Given the description of an element on the screen output the (x, y) to click on. 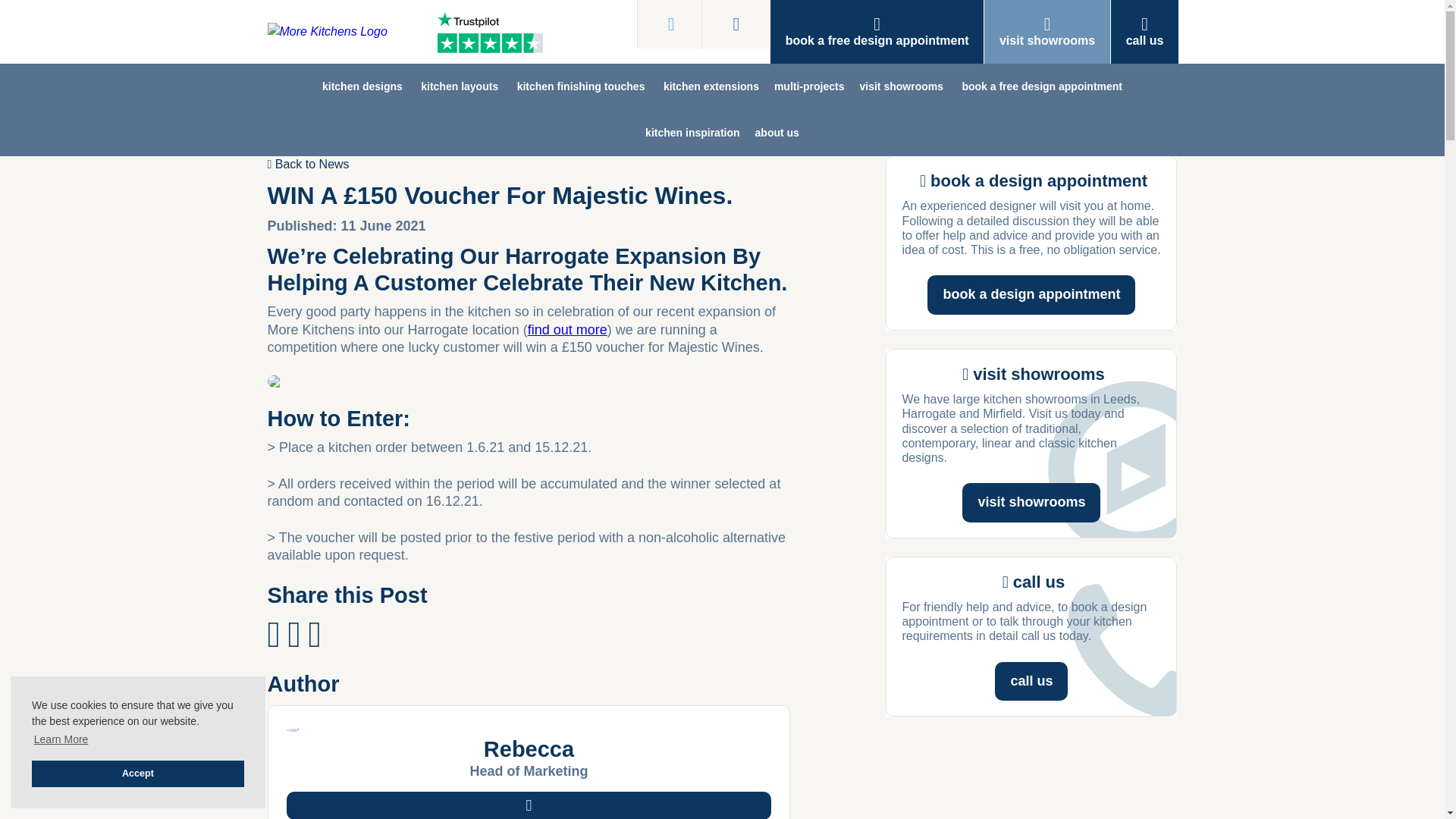
Kitchen Layouts (459, 86)
kitchen finishing touches (580, 86)
Learn More (61, 739)
Book A Free Design Appointment (1041, 86)
Kitchen Finishing Touches (580, 86)
kitchen layouts (459, 86)
call us (1144, 31)
Multi-Projects (809, 86)
Accept (138, 773)
Customer reviews powered by Trustpilot (493, 31)
Kitchen Inspiration (691, 132)
visit showrooms (1046, 31)
visit showrooms (900, 86)
Kitchen Designs (362, 86)
kitchen designs (362, 86)
